Given the description of an element on the screen output the (x, y) to click on. 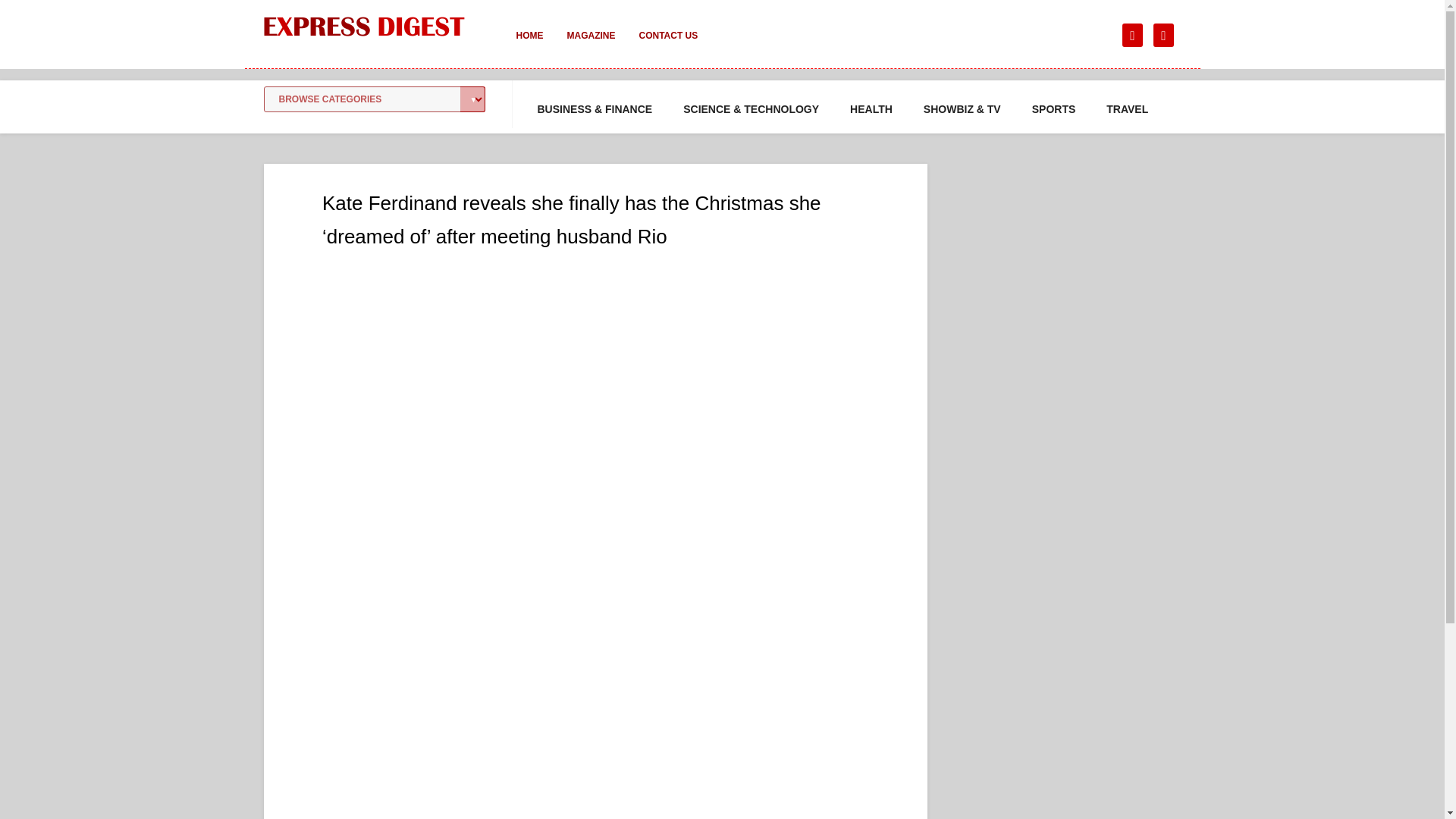
MAGAZINE (590, 45)
TRAVEL (1127, 109)
HEALTH (871, 109)
CONTACT US (667, 45)
SPORTS (1053, 109)
